Given the description of an element on the screen output the (x, y) to click on. 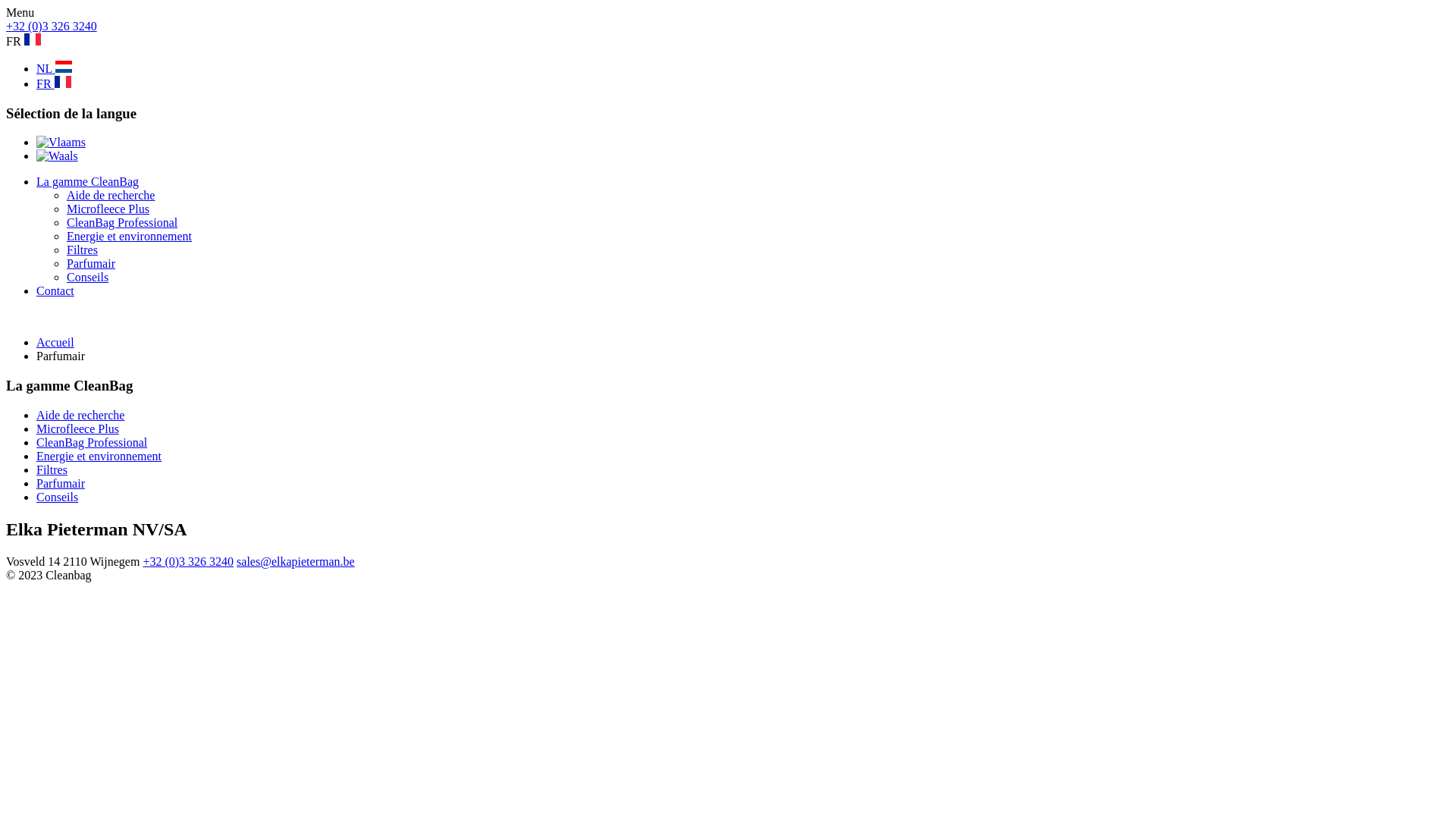
La gamme CleanBag Element type: text (87, 181)
Energie et environnement Element type: text (128, 235)
Conseils Element type: text (87, 276)
NL Element type: text (54, 68)
Microfleece Plus Element type: text (77, 428)
Microfleece Plus Element type: text (107, 208)
Contact Element type: text (55, 290)
+32 (0)3 326 3240 Element type: text (51, 25)
Filtres Element type: text (81, 249)
Energie et environnement Element type: text (98, 455)
CleanBag Professional Element type: text (121, 222)
+32 (0)3 326 3240 Element type: text (187, 561)
Parfumair Element type: text (90, 263)
CleanBag Professional Element type: text (91, 442)
Accueil Element type: text (55, 341)
FR Element type: text (53, 83)
Aide de recherche Element type: text (80, 414)
Filtres Element type: text (51, 469)
Conseils Element type: text (57, 496)
Aide de recherche Element type: text (110, 194)
Home Element type: text (57, 51)
sales@elkapieterman.be Element type: text (295, 561)
Parfumair Element type: text (60, 482)
